Given the description of an element on the screen output the (x, y) to click on. 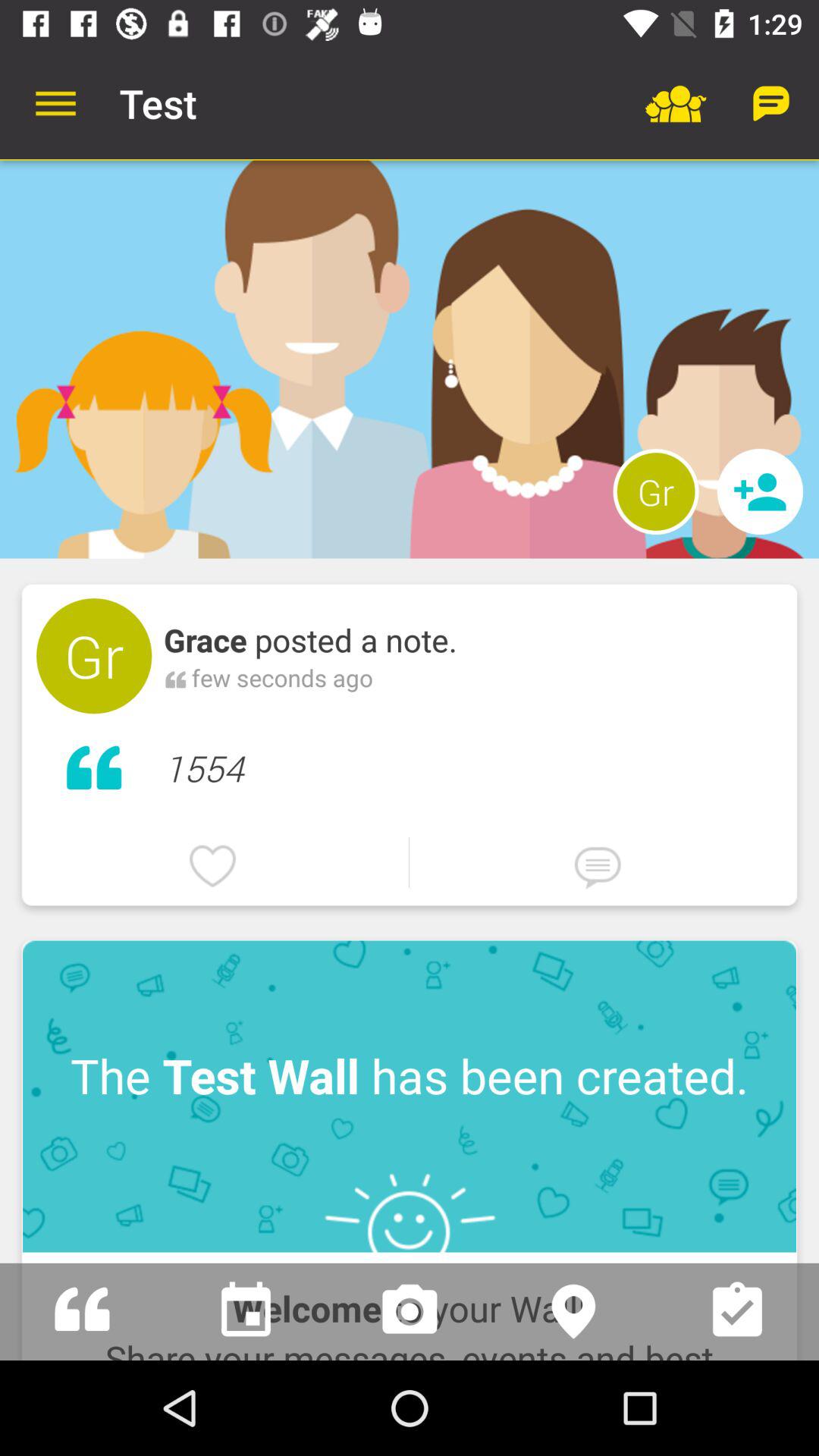
launch the icon below the 1554 icon (408, 862)
